Given the description of an element on the screen output the (x, y) to click on. 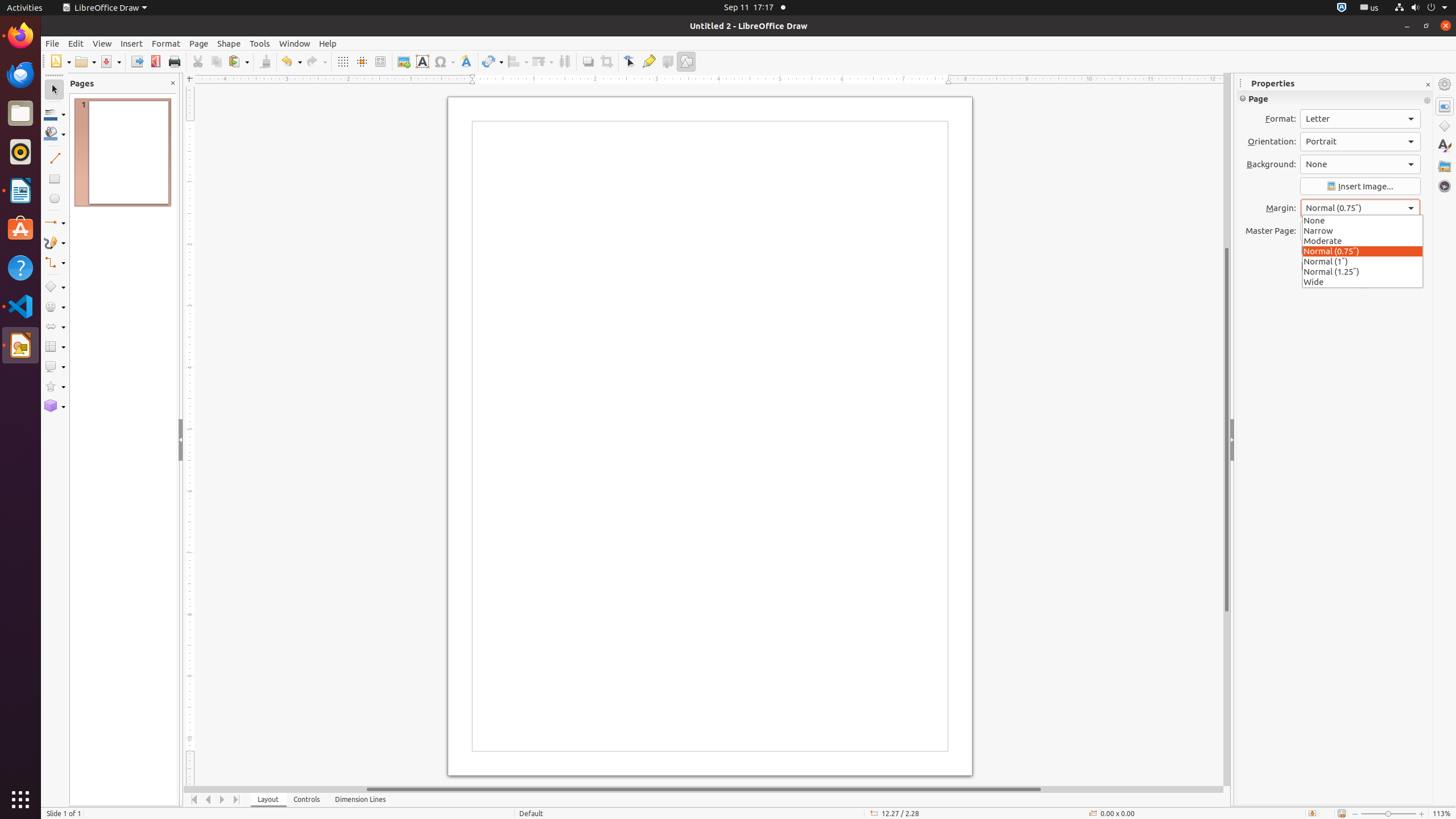
Star Shapes Element type: push-button (54, 386)
Thunderbird Mail Element type: push-button (20, 74)
Navigator Element type: radio-button (1444, 185)
Redo Element type: push-button (315, 61)
Open Element type: push-button (84, 61)
